Given the description of an element on the screen output the (x, y) to click on. 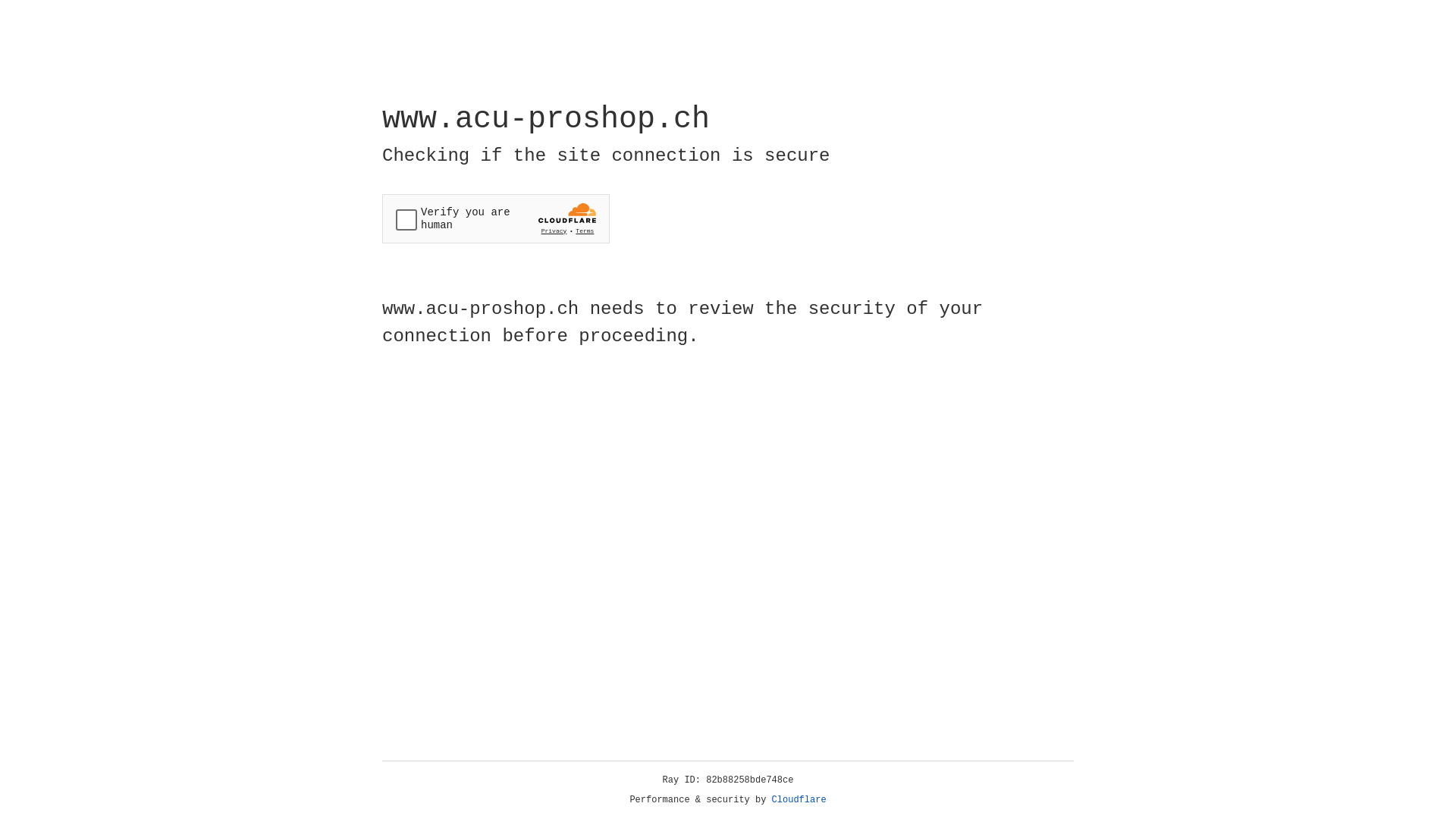
Widget containing a Cloudflare security challenge Element type: hover (495, 218)
Cloudflare Element type: text (798, 799)
